Given the description of an element on the screen output the (x, y) to click on. 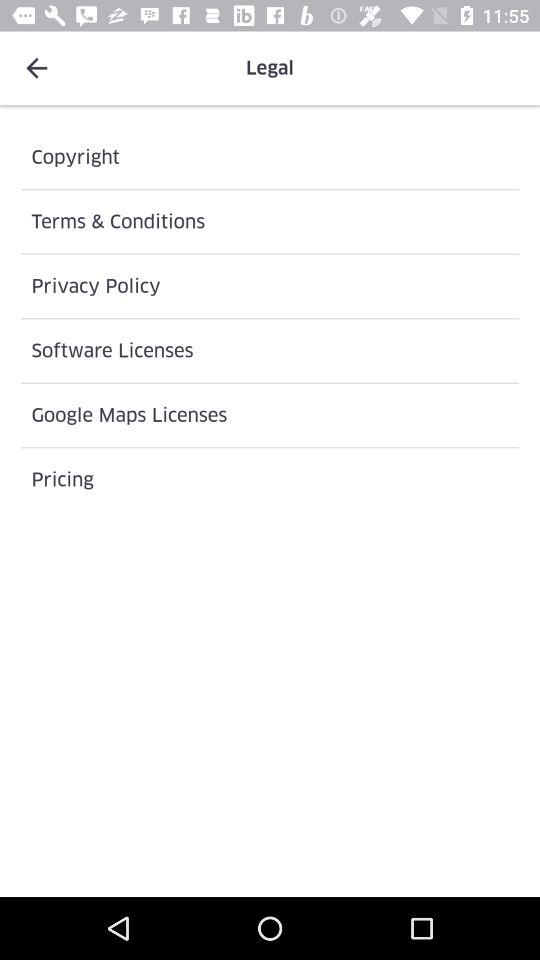
choose google maps licenses icon (270, 415)
